Given the description of an element on the screen output the (x, y) to click on. 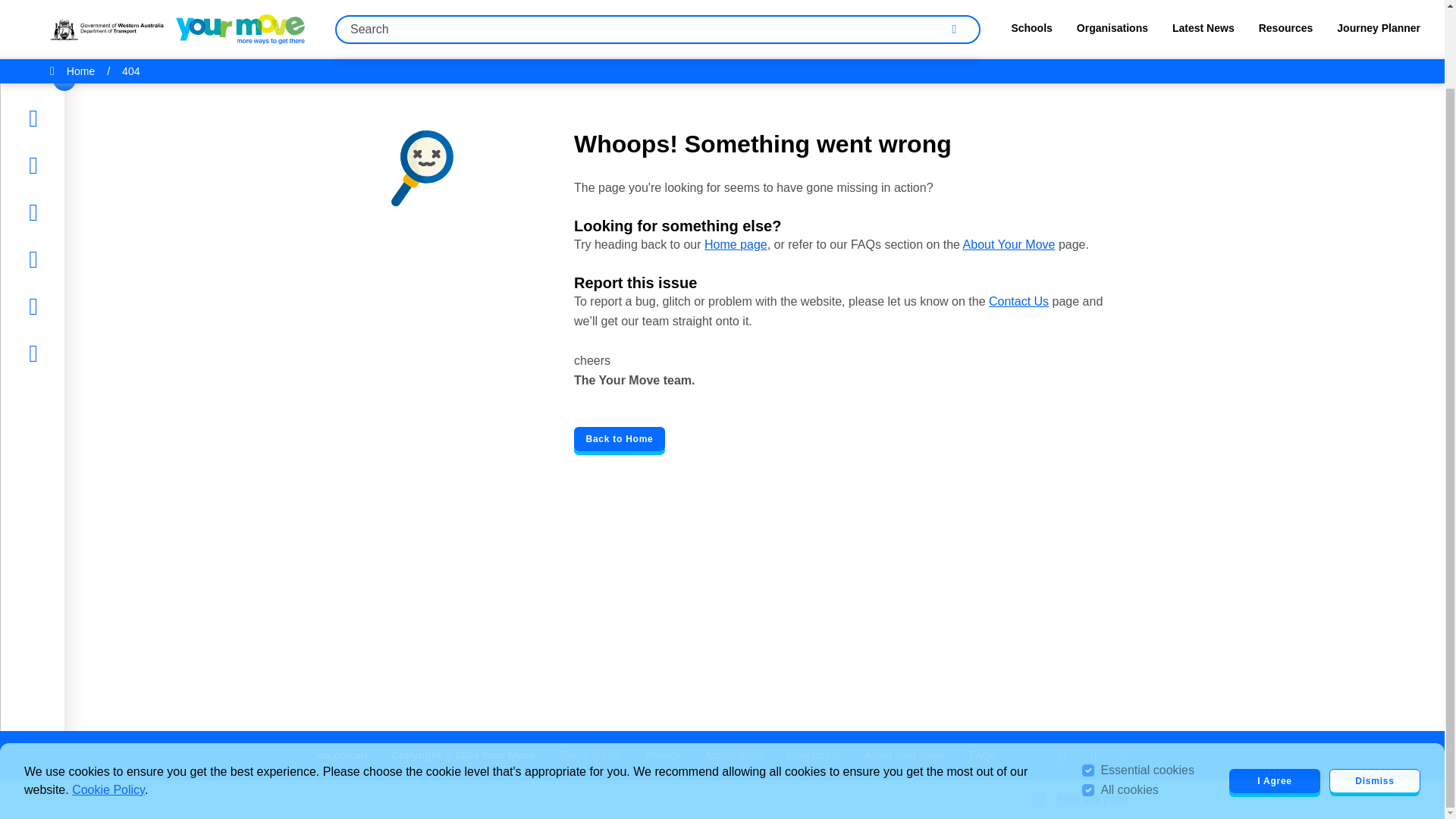
Home page (735, 244)
wa.gov.au (342, 755)
Contact Us (813, 755)
Register (65, 265)
Latest News (77, 124)
Stories (61, 77)
Resources (71, 170)
Print this page (1083, 799)
Home (59, 29)
Back to Home (619, 438)
